Given the description of an element on the screen output the (x, y) to click on. 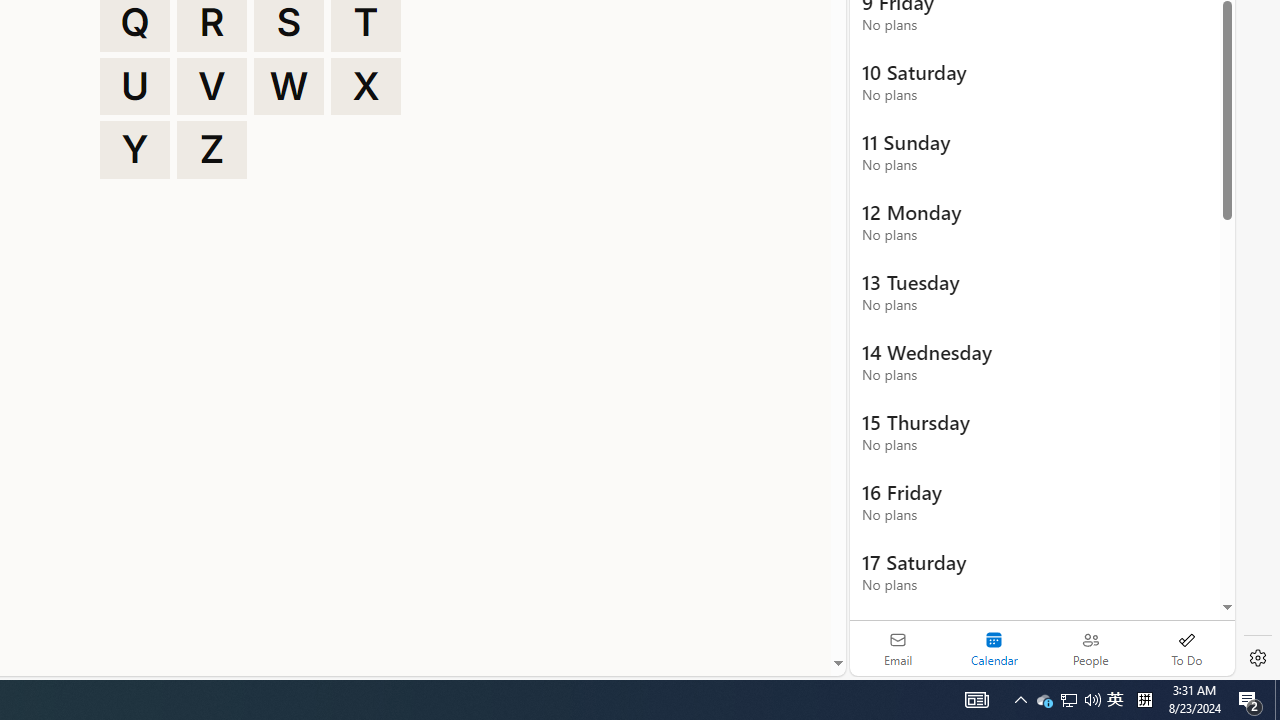
W (289, 85)
W (289, 85)
Y (134, 149)
People (1090, 648)
V (212, 85)
Z (212, 149)
U (134, 85)
To Do (1186, 648)
